Given the description of an element on the screen output the (x, y) to click on. 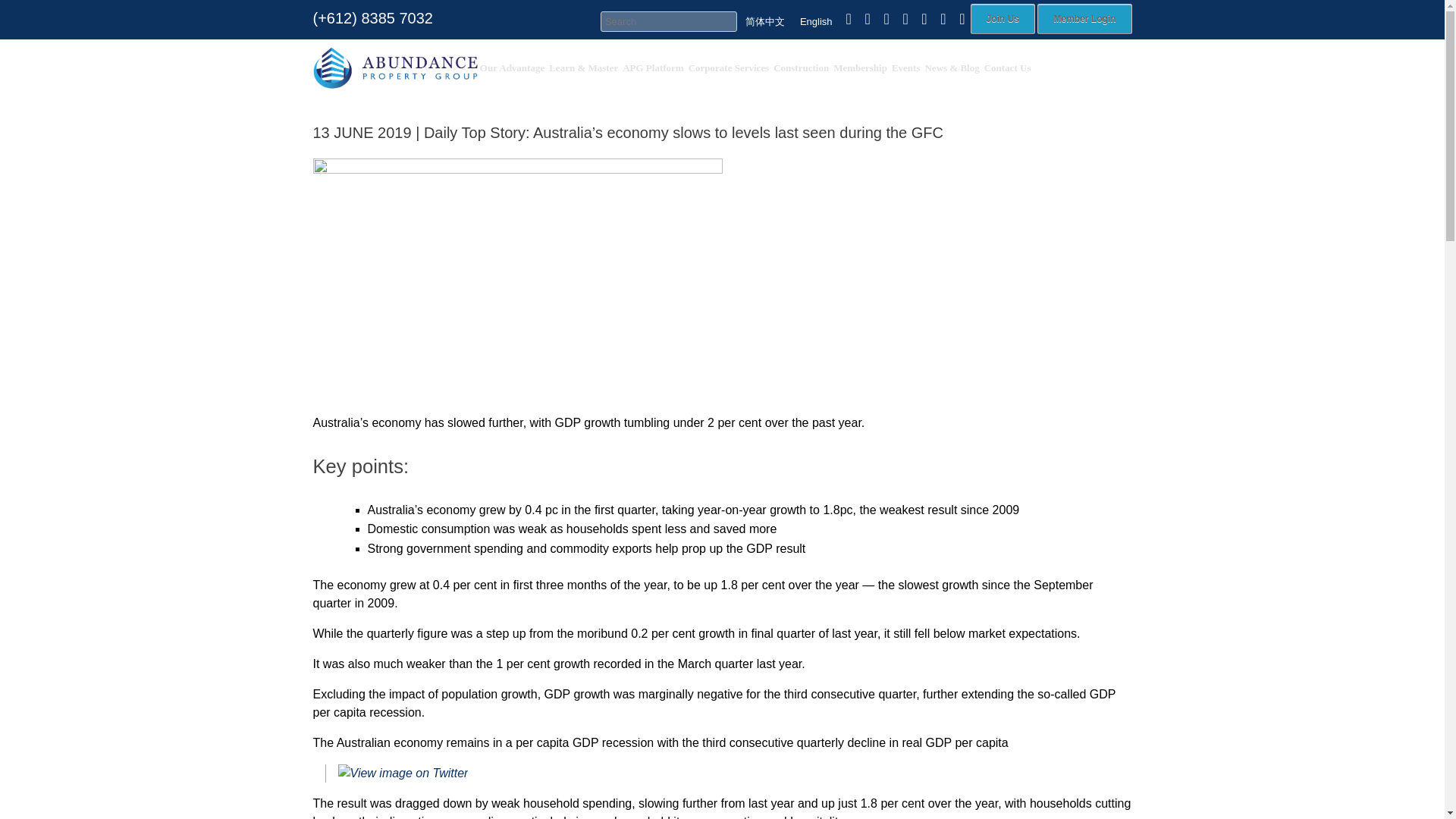
View image on Twitter (402, 773)
Member Login (1083, 19)
Corporate Services (728, 67)
Membership (860, 67)
English (816, 21)
Abundance Property Group (395, 67)
Construction (801, 67)
APG Platform (652, 67)
Join Us (1003, 19)
Our Advantage (512, 67)
